Given the description of an element on the screen output the (x, y) to click on. 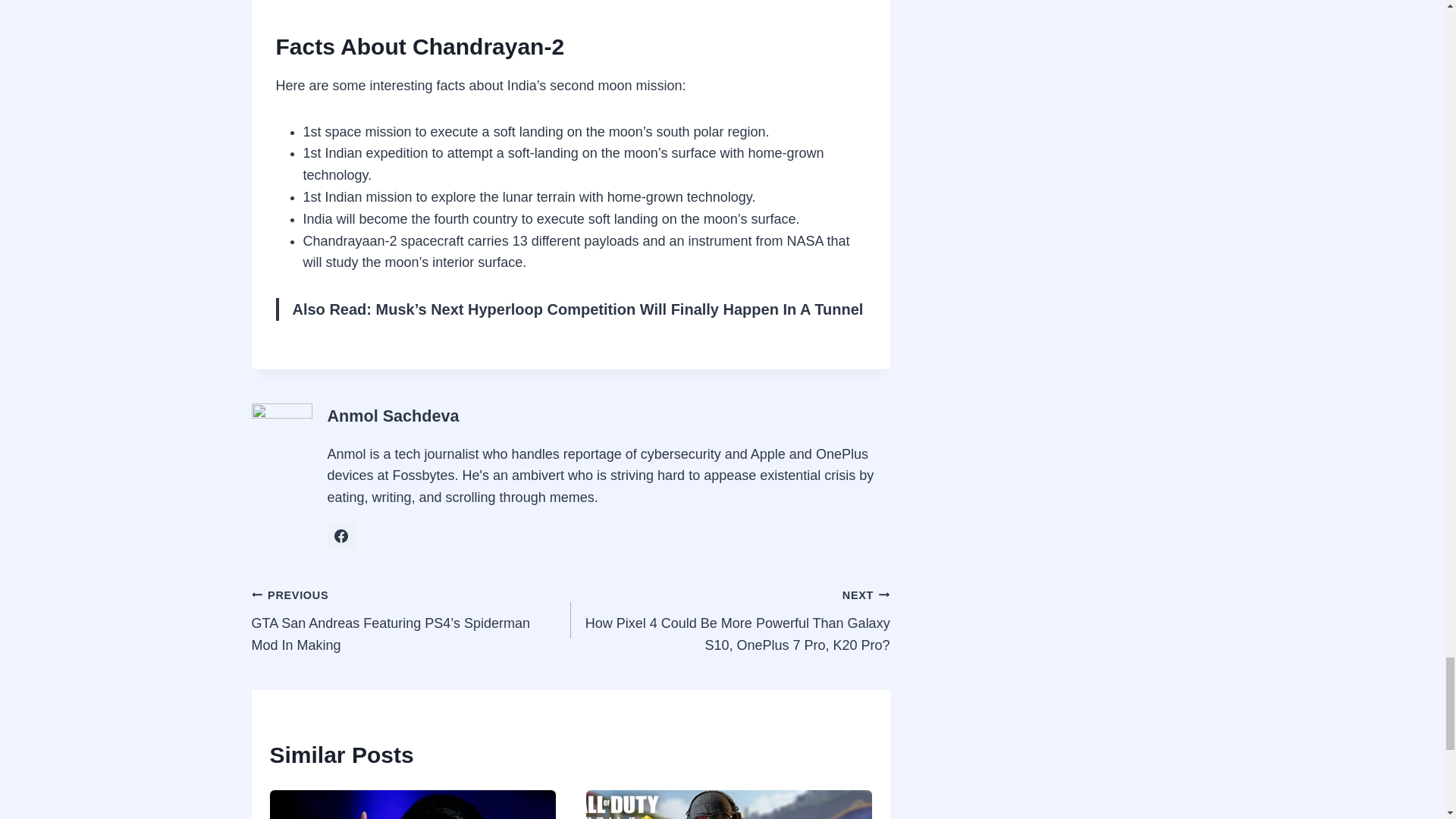
Anmol Sachdeva (393, 415)
Posts by Anmol Sachdeva (393, 415)
Follow Anmol Sachdeva on Facebook (341, 535)
